Given the description of an element on the screen output the (x, y) to click on. 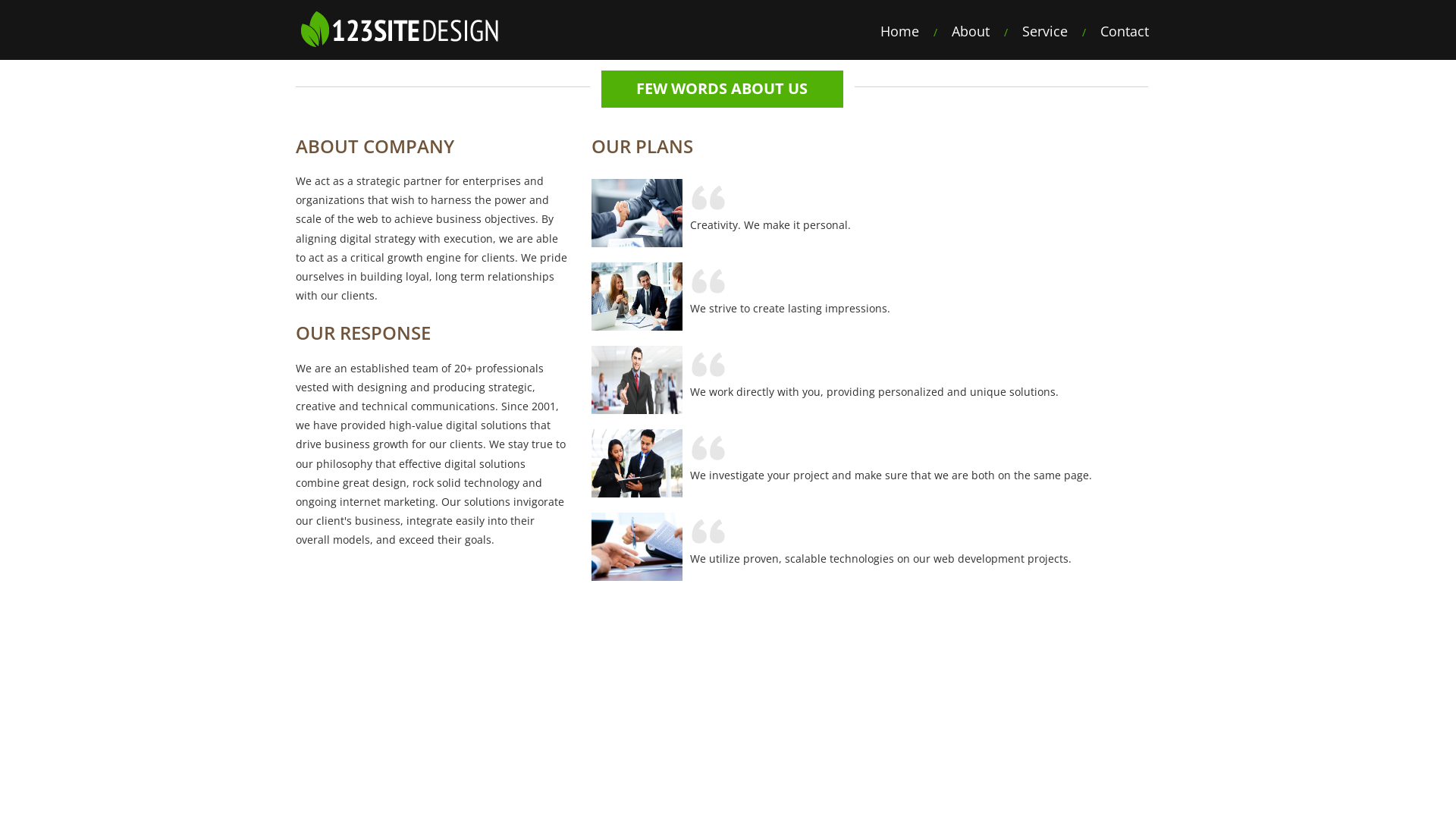
Service Element type: text (1044, 31)
FEW WORDS ABOUT US Element type: text (722, 88)
Contact Element type: text (1124, 31)
Home Element type: text (899, 31)
About Element type: text (970, 31)
